Given the description of an element on the screen output the (x, y) to click on. 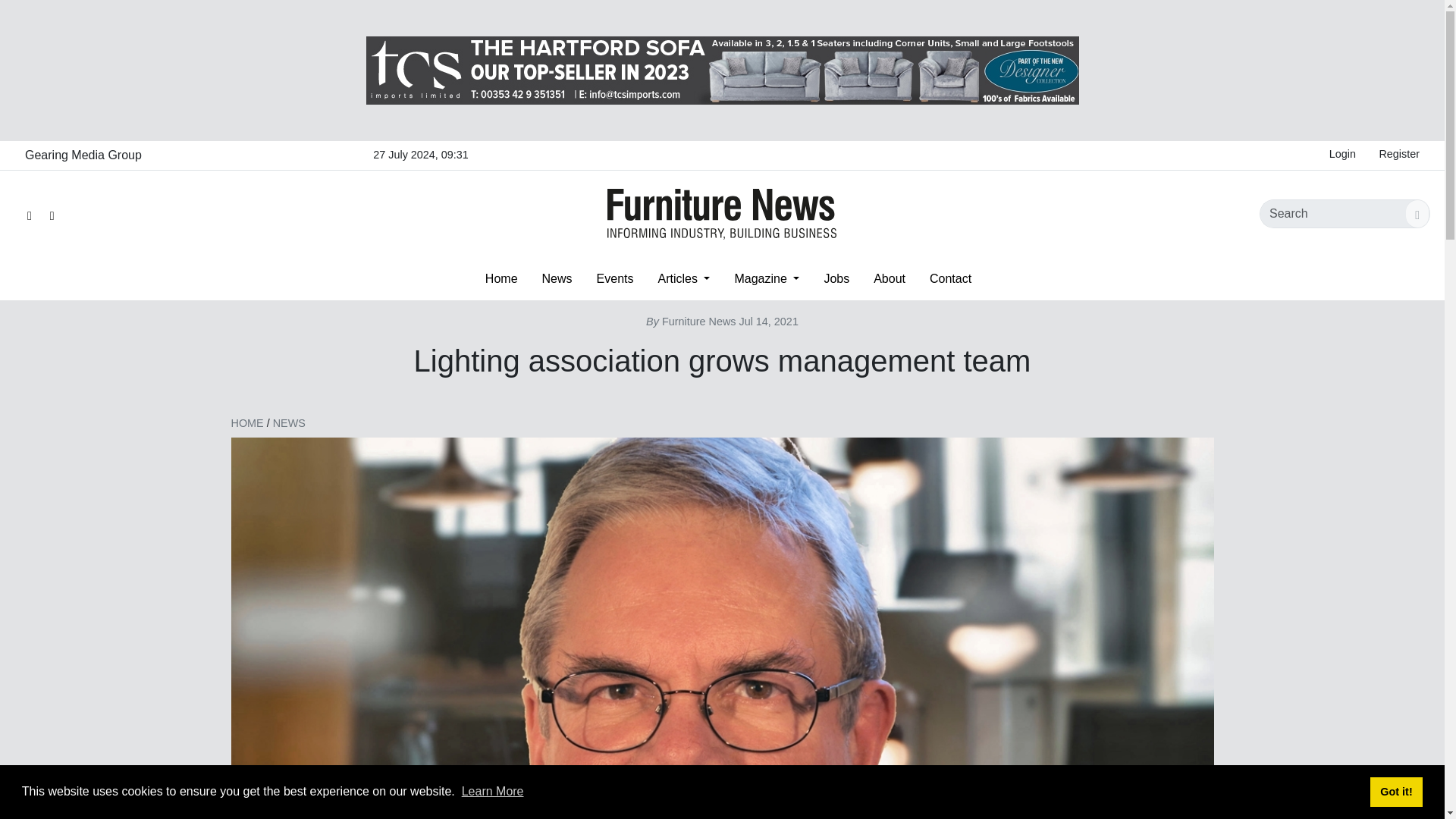
Contact (950, 278)
NEWS (289, 422)
HOME (246, 422)
Got it! (1396, 791)
About (889, 278)
Home (501, 278)
Learn More (492, 790)
Events (615, 278)
Login (1342, 154)
Jobs (835, 278)
Gearing Media Group (82, 154)
Magazine (766, 278)
News (557, 278)
Register (1398, 154)
Articles (683, 278)
